Given the description of an element on the screen output the (x, y) to click on. 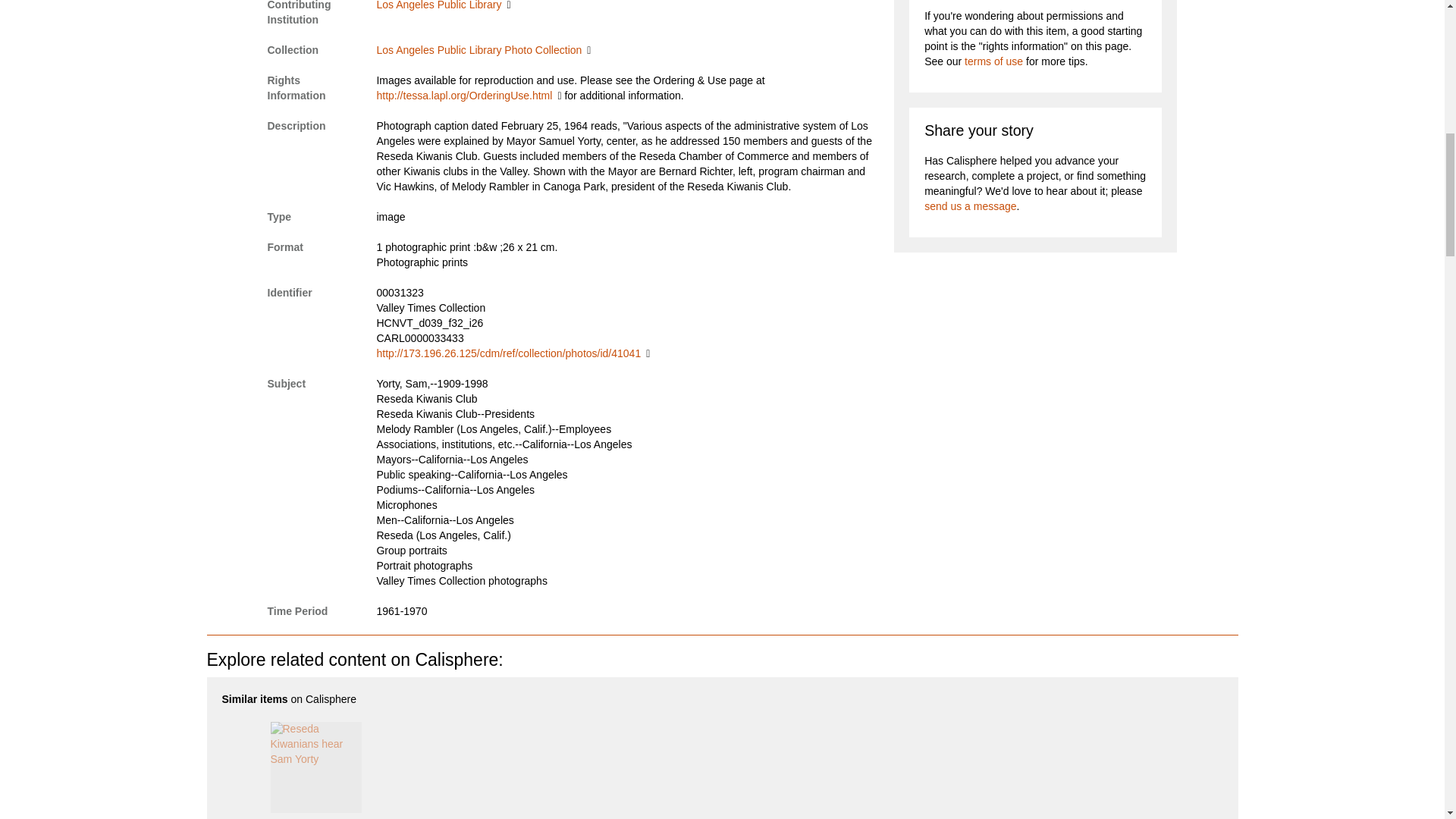
: Reseda Kiwanians hear Sam Yorty (315, 770)
Los Angeles Public Library Photo Collection (483, 50)
Los Angeles Public Library (443, 5)
send us a message (970, 205)
terms of use (993, 61)
